Given the description of an element on the screen output the (x, y) to click on. 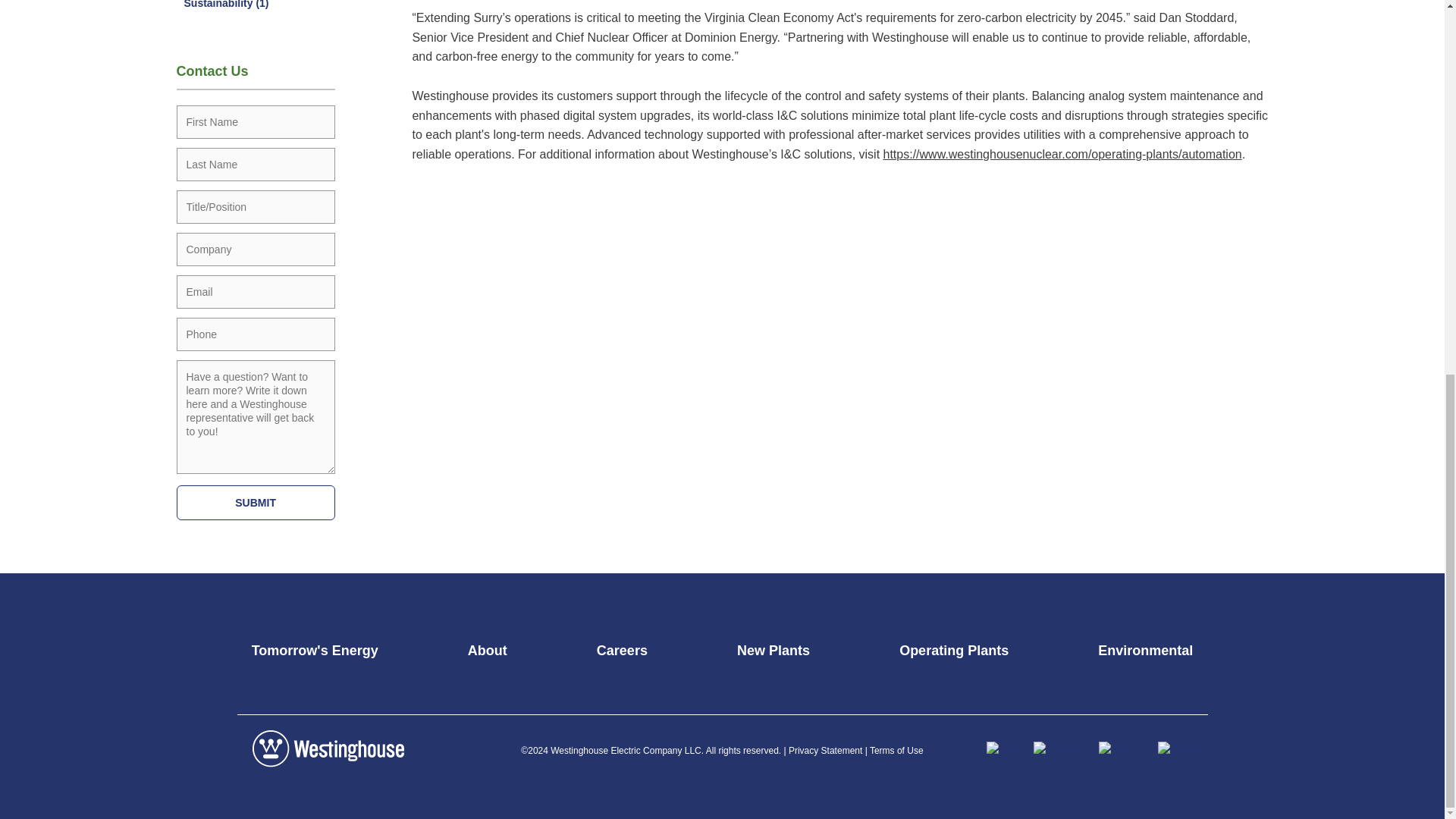
Submit (255, 502)
Westinghouse (327, 748)
Tomorrow's Energy (314, 650)
Careers (621, 650)
About (486, 650)
Submit (255, 502)
